Given the description of an element on the screen output the (x, y) to click on. 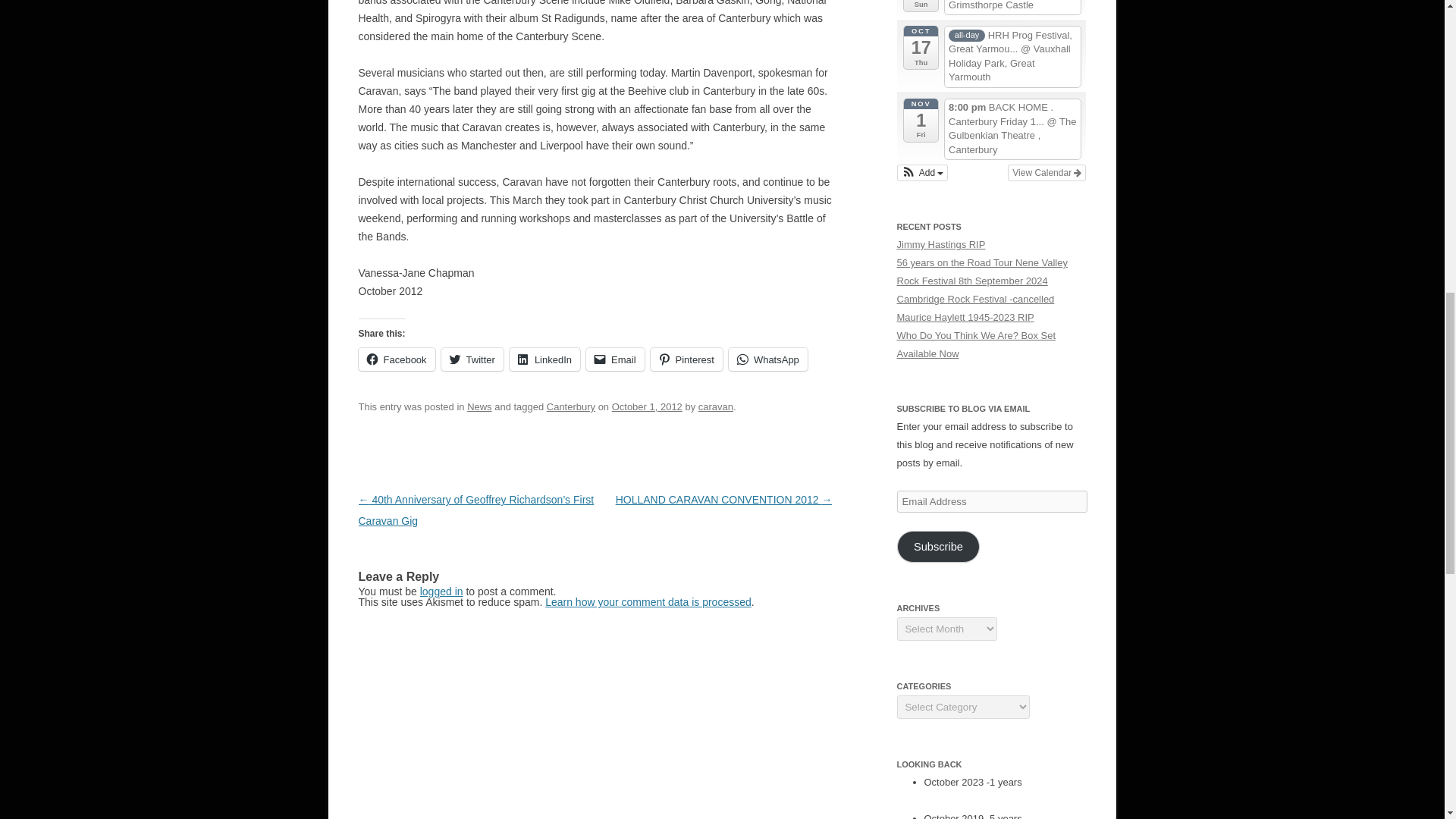
October 1, 2012 (646, 406)
Click to share on Pinterest (686, 359)
Canterbury (571, 406)
Pinterest (686, 359)
logged in (441, 591)
WhatsApp (768, 359)
Email (615, 359)
Click to share on WhatsApp (768, 359)
caravan (715, 406)
Click to share on LinkedIn (544, 359)
